Given the description of an element on the screen output the (x, y) to click on. 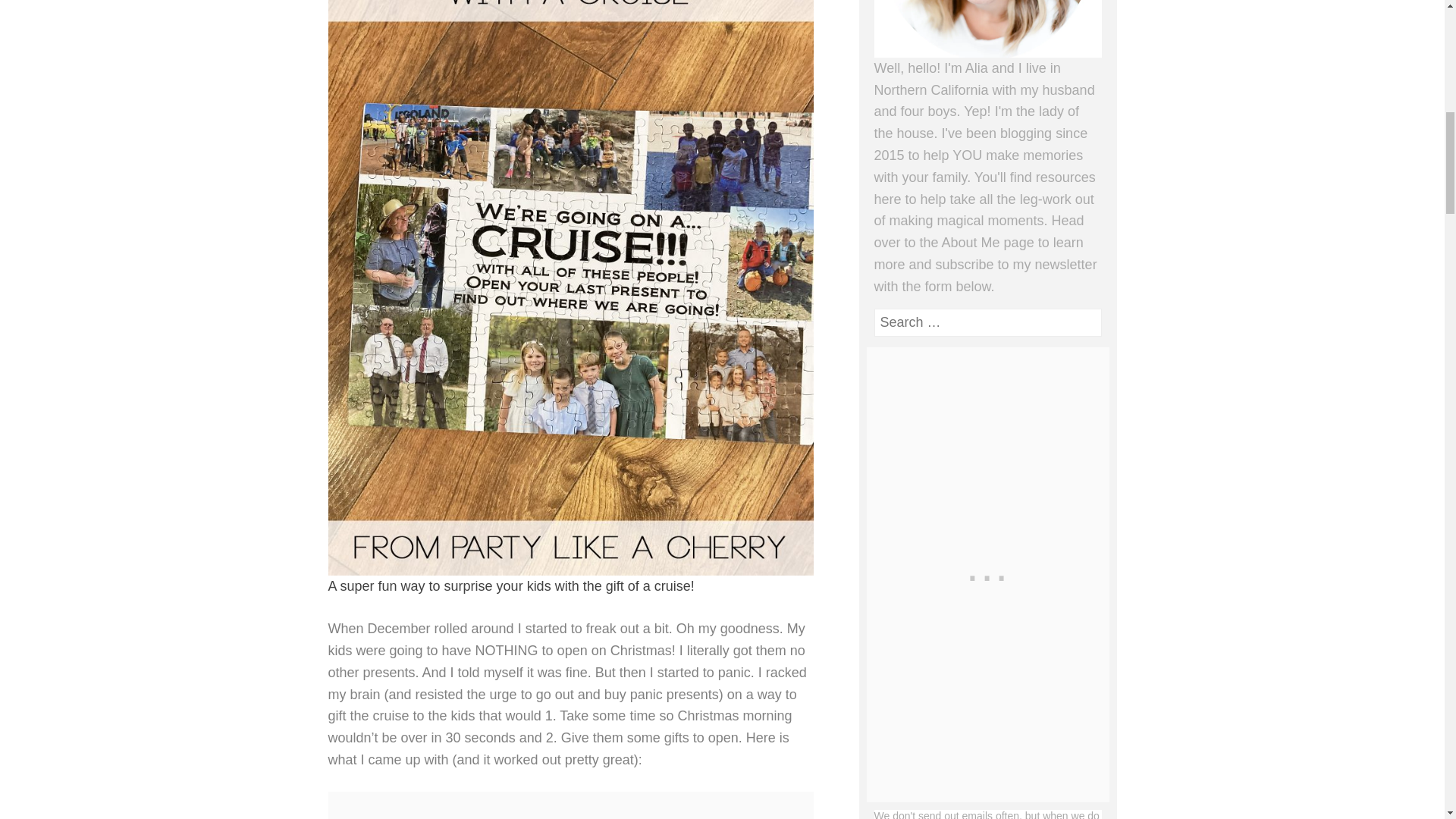
Welcome! (986, 28)
